Given the description of an element on the screen output the (x, y) to click on. 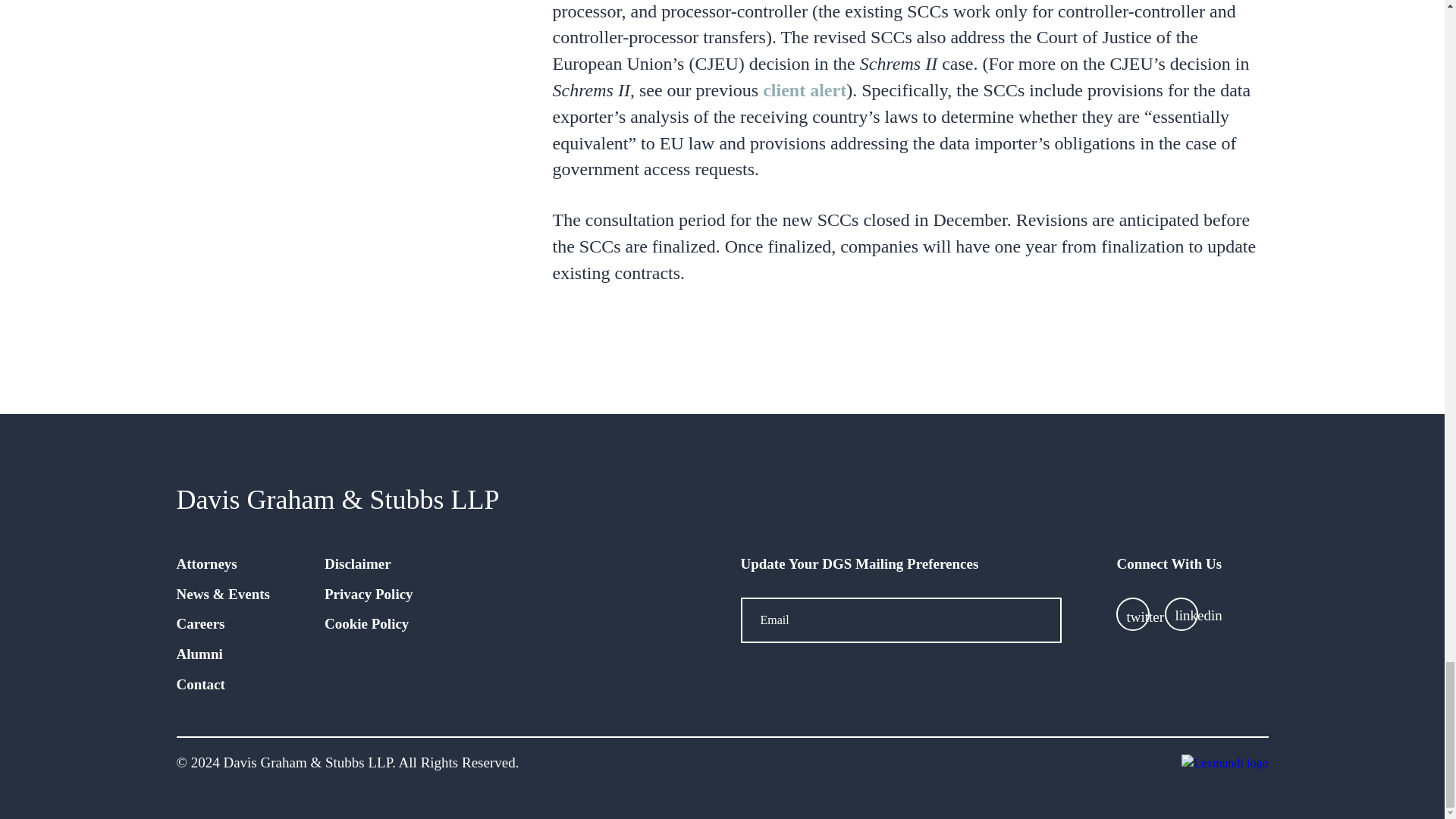
Attorneys (205, 563)
client alert (803, 89)
Alumni (199, 653)
Careers (200, 623)
